Given the description of an element on the screen output the (x, y) to click on. 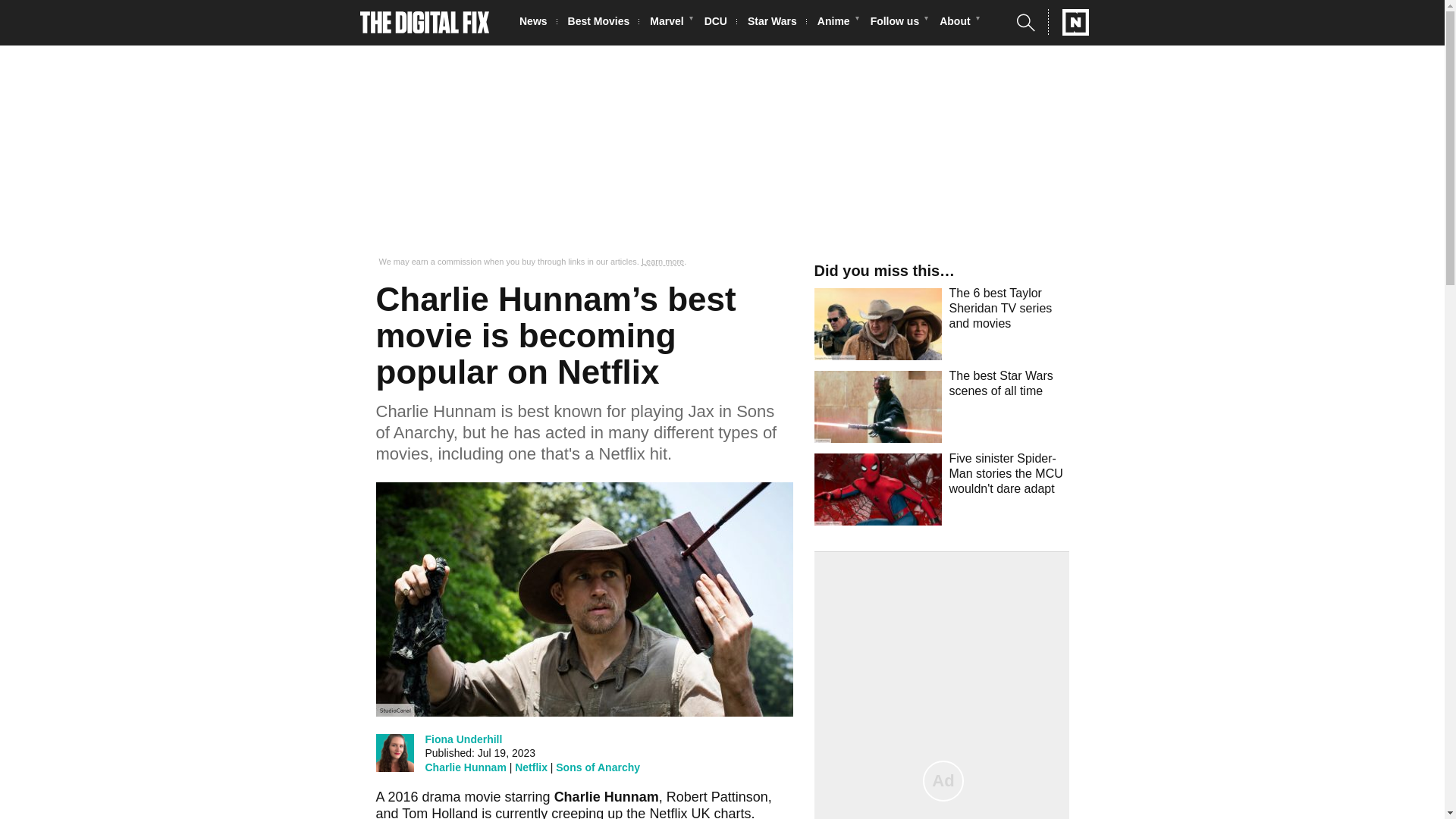
Network N Media (1068, 22)
Anime (837, 22)
Star Wars (777, 22)
Fiona Underhill (463, 739)
Charlie Hunnam (465, 767)
Sons of Anarchy (598, 767)
Best Movies (603, 22)
Marvel (671, 22)
Learn more (663, 261)
Marvel Cinematic Universe News (671, 22)
